Given the description of an element on the screen output the (x, y) to click on. 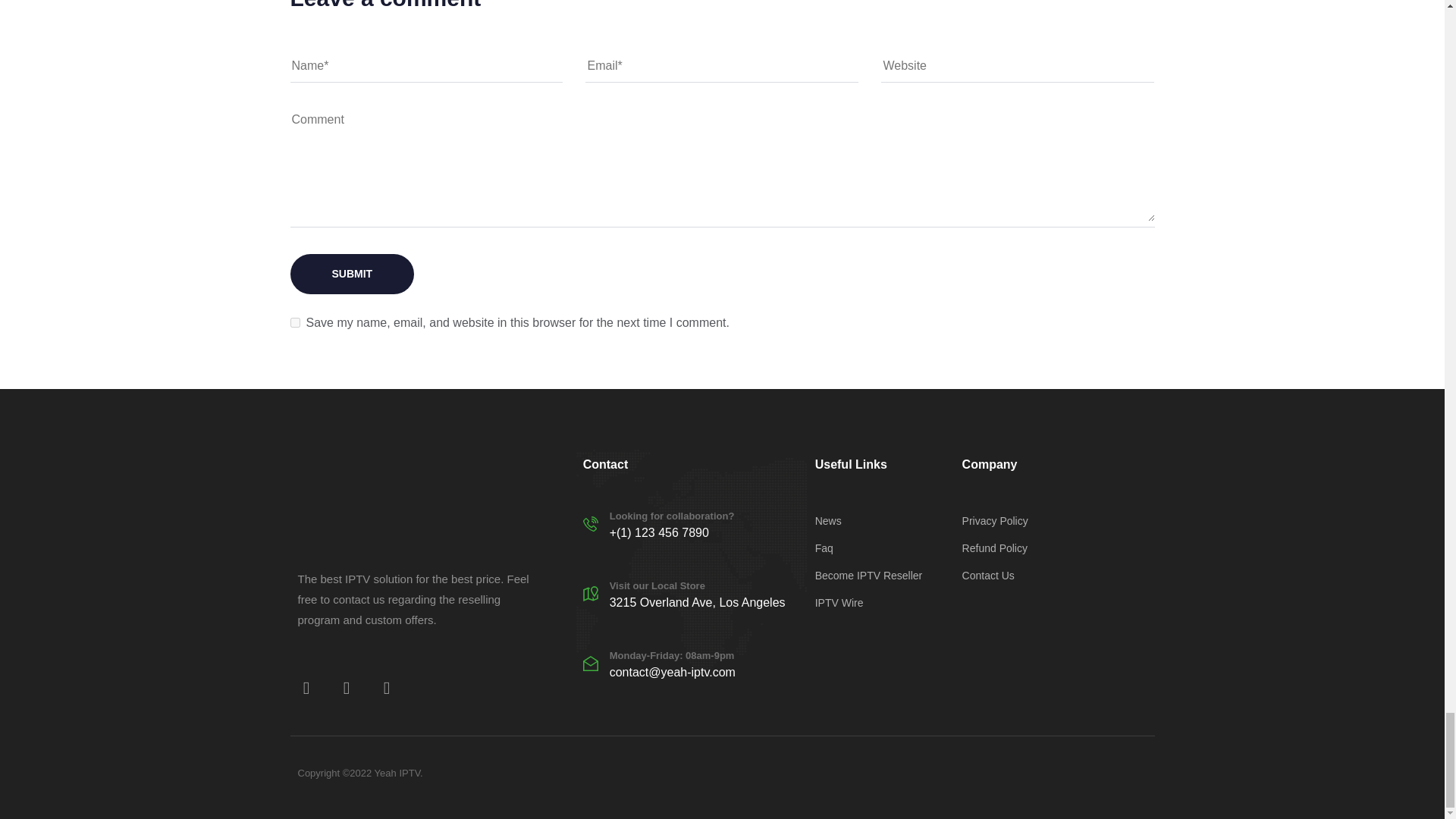
yes (294, 322)
Submit (351, 273)
